Given the description of an element on the screen output the (x, y) to click on. 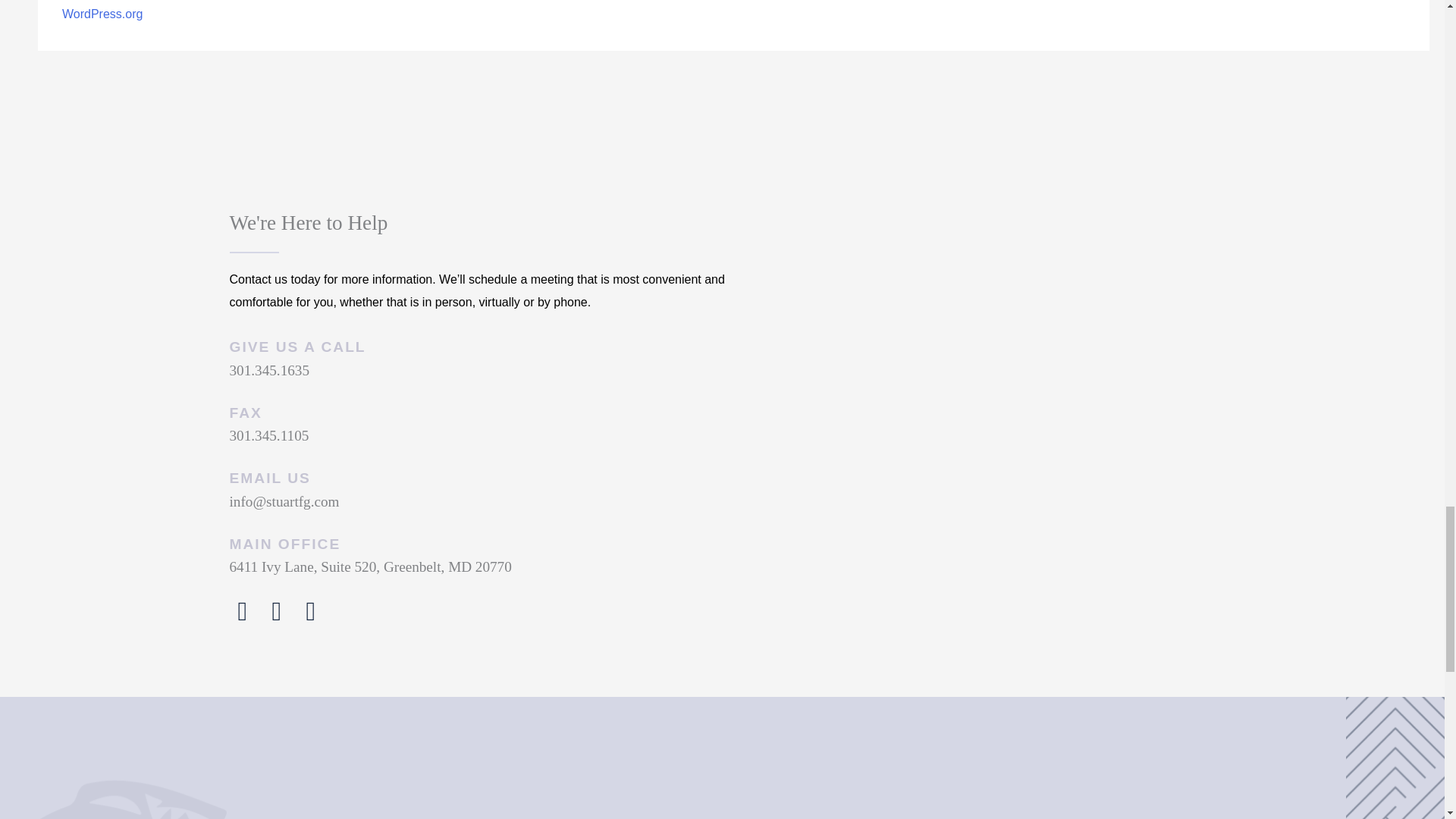
Facebook (242, 611)
